Given the description of an element on the screen output the (x, y) to click on. 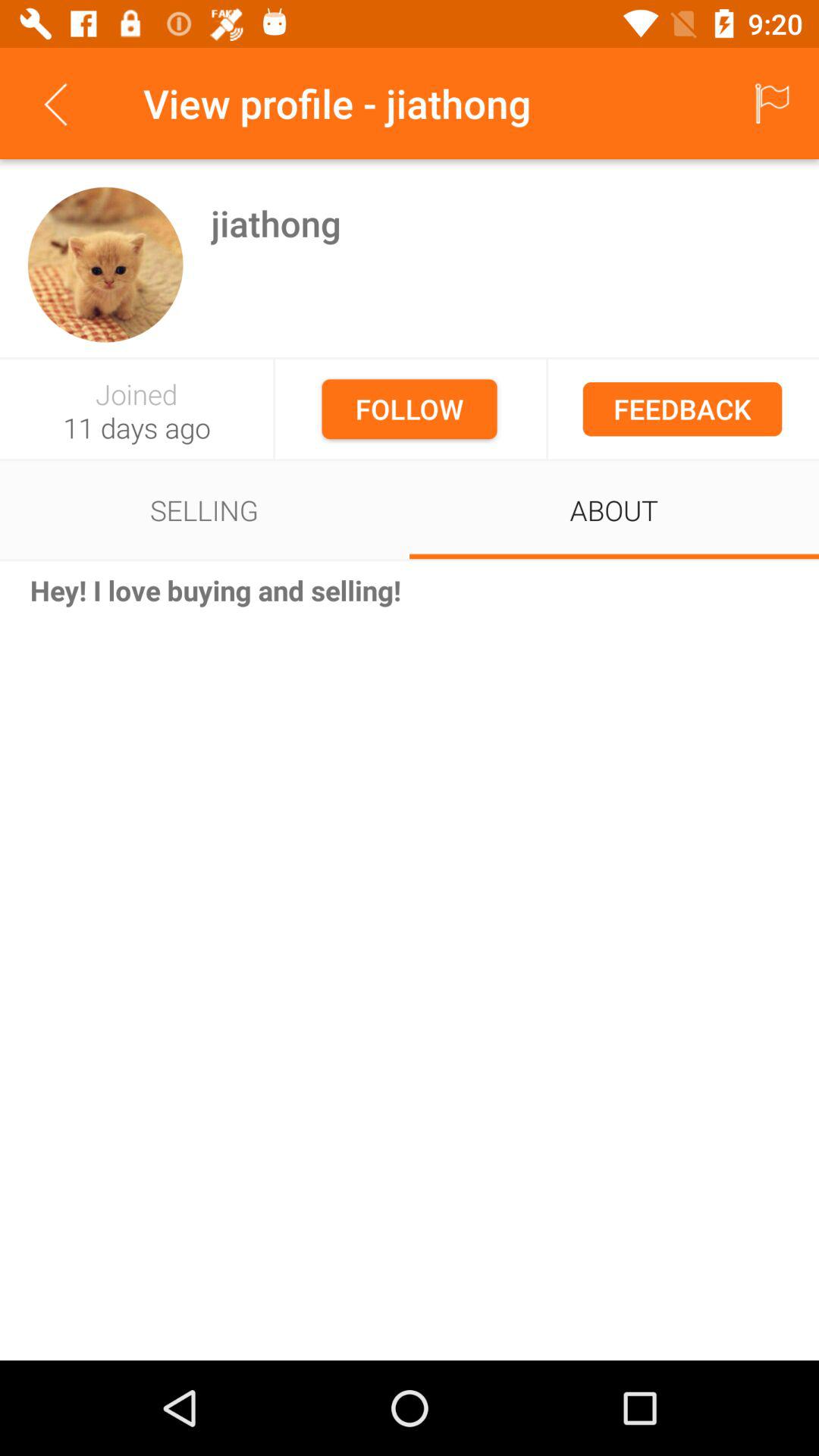
scroll until follow (409, 409)
